Given the description of an element on the screen output the (x, y) to click on. 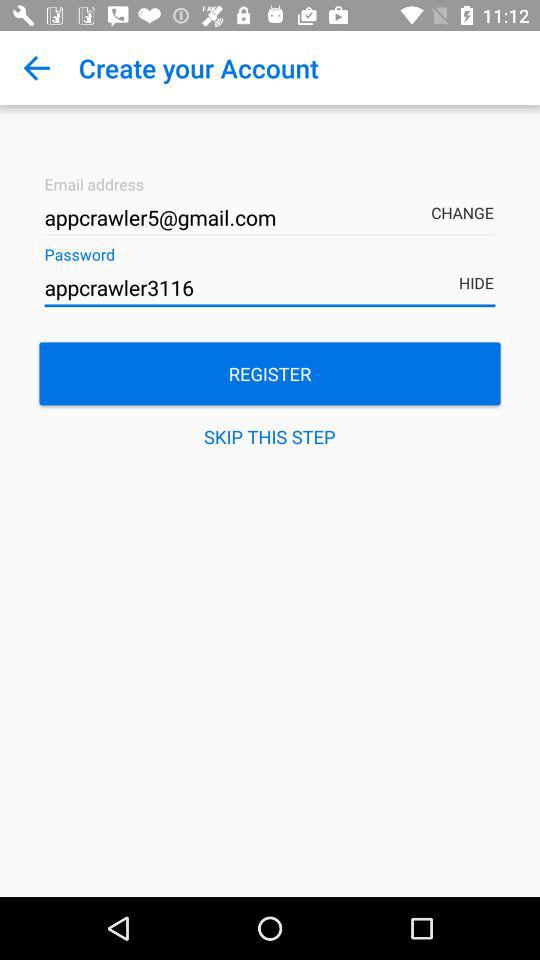
select the item below the appcrawler5@gmail.com item (269, 288)
